Given the description of an element on the screen output the (x, y) to click on. 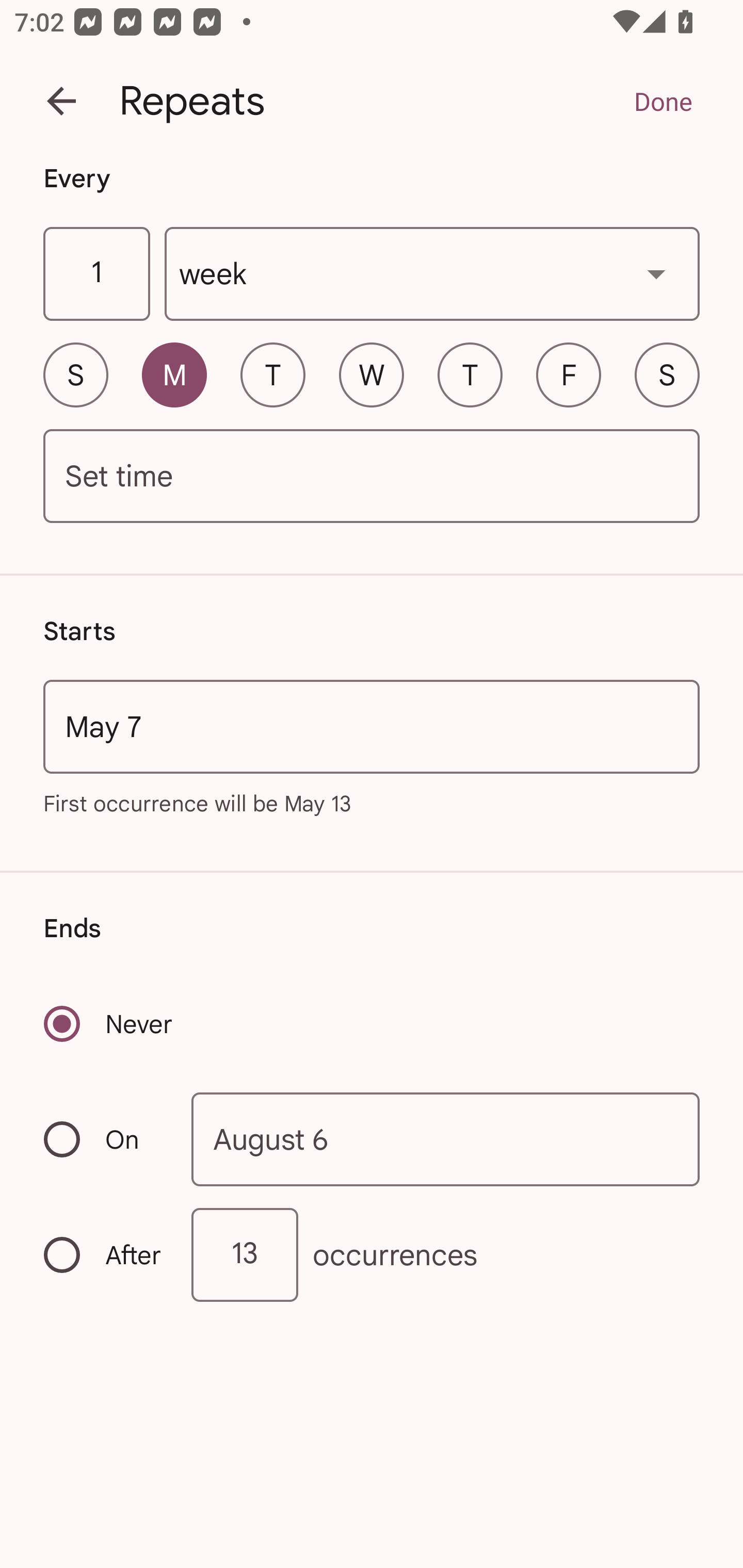
Back (61, 101)
Done (663, 101)
1 (96, 274)
week (431, 274)
Show dropdown menu (655, 273)
S Sunday (75, 374)
M Monday, selected (173, 374)
T Tuesday (272, 374)
W Wednesday (371, 374)
T Thursday (469, 374)
F Friday (568, 374)
S Saturday (666, 374)
Set time (371, 476)
May 7 (371, 726)
Never Recurrence never ends (109, 1023)
August 6 (445, 1139)
On Recurrence ends on a specific date (104, 1138)
13 (244, 1254)
